Given the description of an element on the screen output the (x, y) to click on. 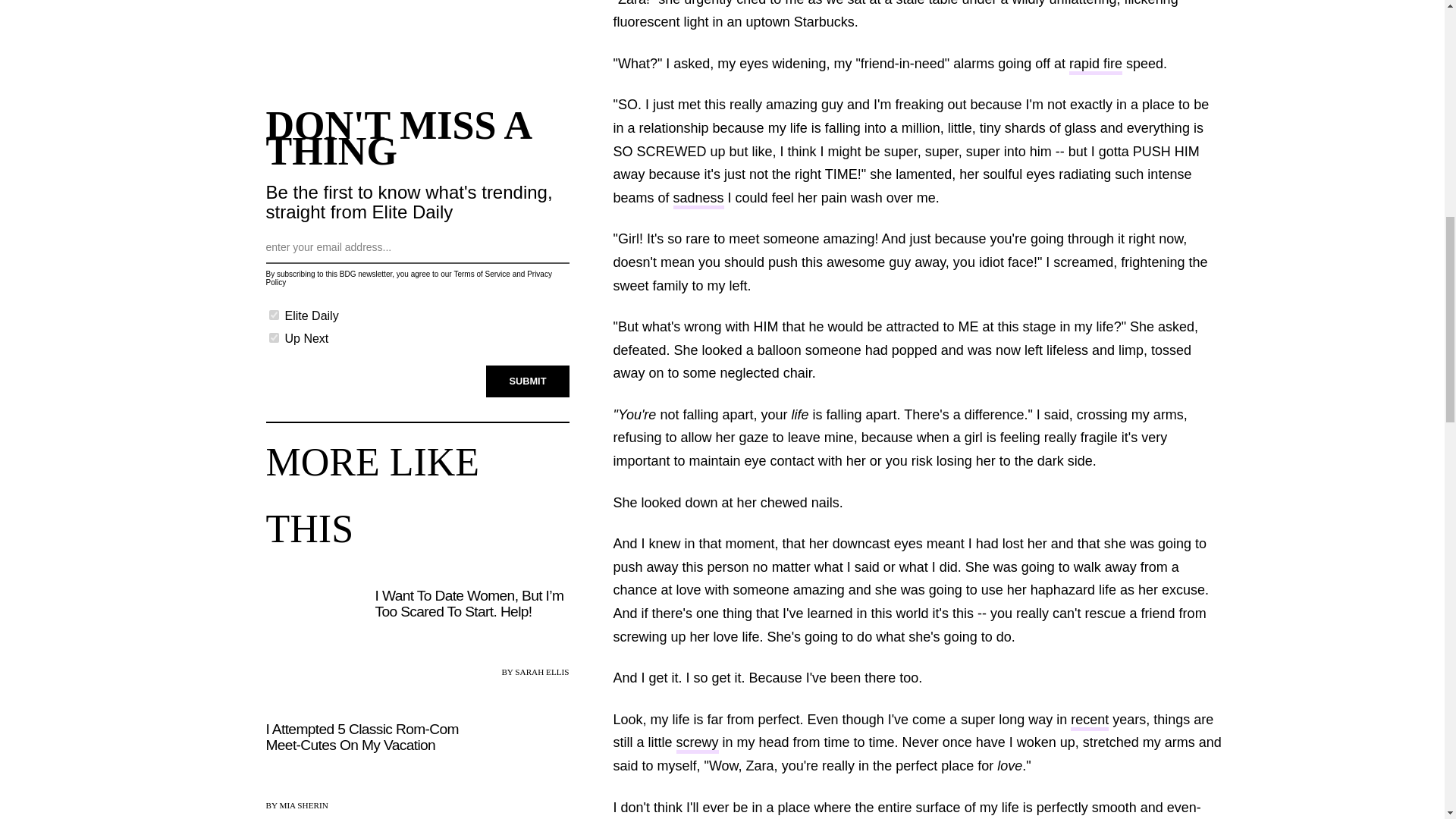
screwy (698, 743)
Terms of Service (480, 274)
sadness (697, 199)
SUBMIT (527, 381)
Privacy Policy (407, 278)
rapid fire (1095, 65)
recent (1089, 721)
